Given the description of an element on the screen output the (x, y) to click on. 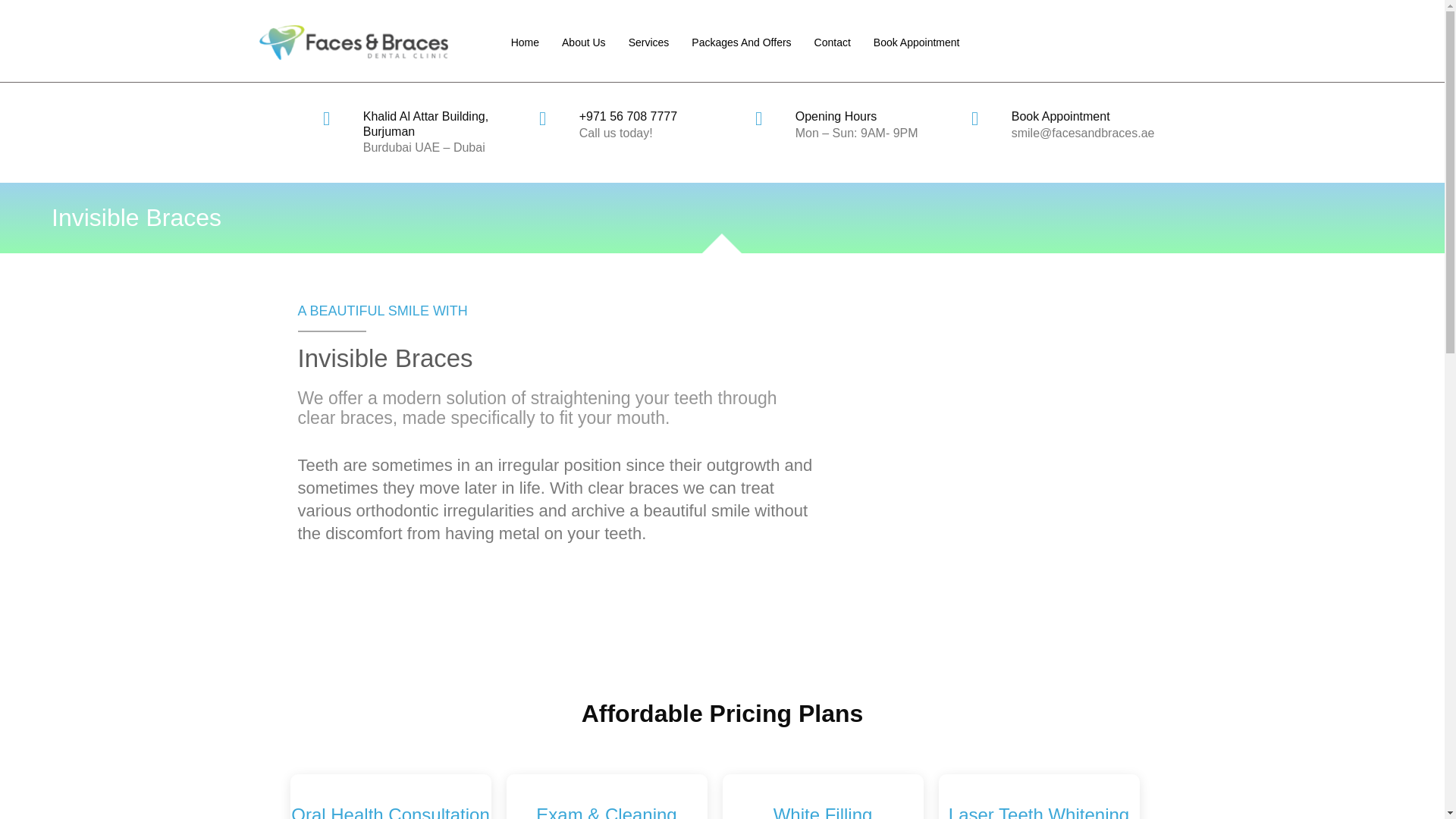
About Us (583, 41)
Services (649, 41)
Contact (832, 41)
Book Appointment (910, 41)
Home (530, 41)
Packages And Offers (740, 41)
